Given the description of an element on the screen output the (x, y) to click on. 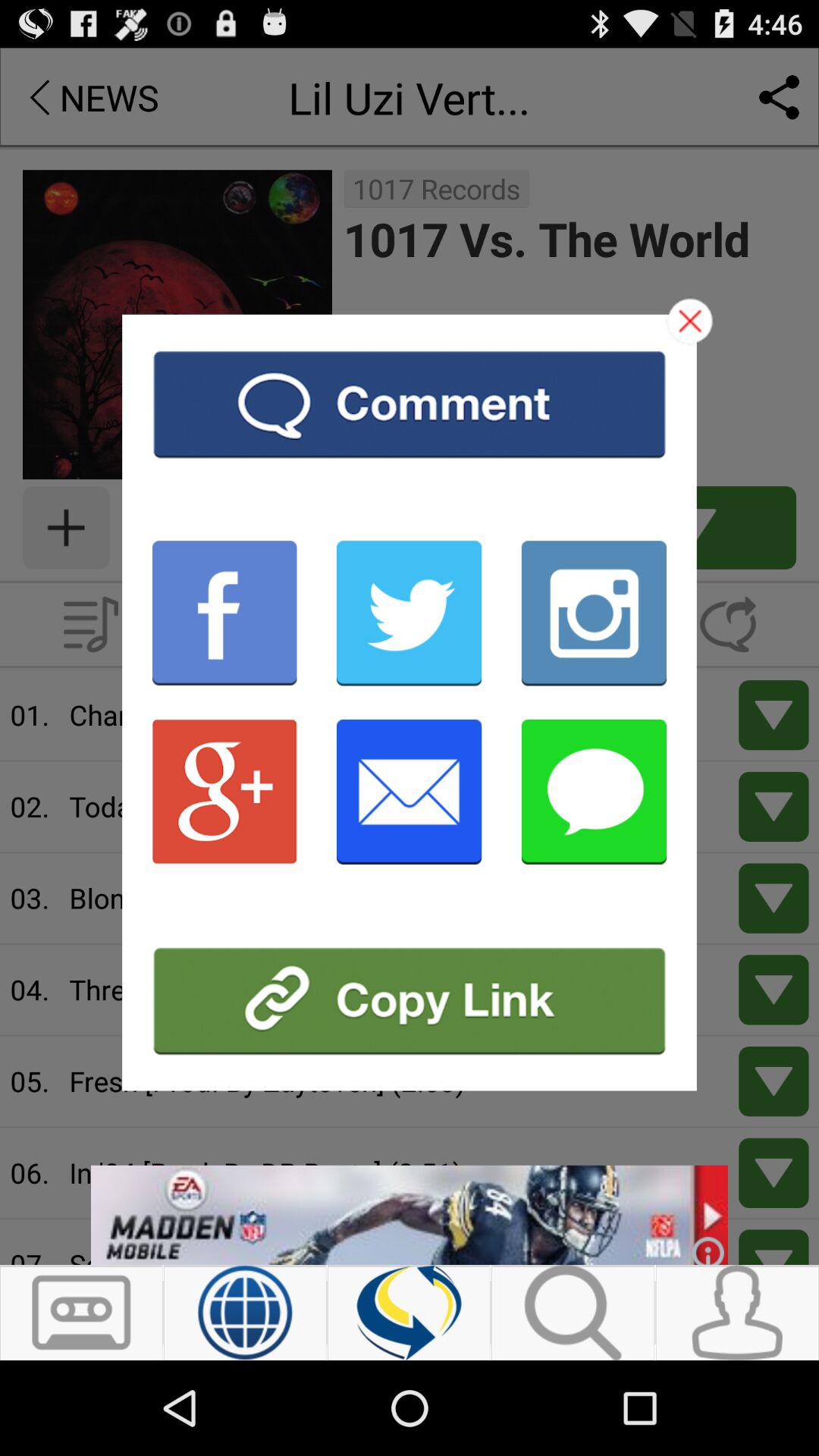
share on twitter (408, 612)
